Given the description of an element on the screen output the (x, y) to click on. 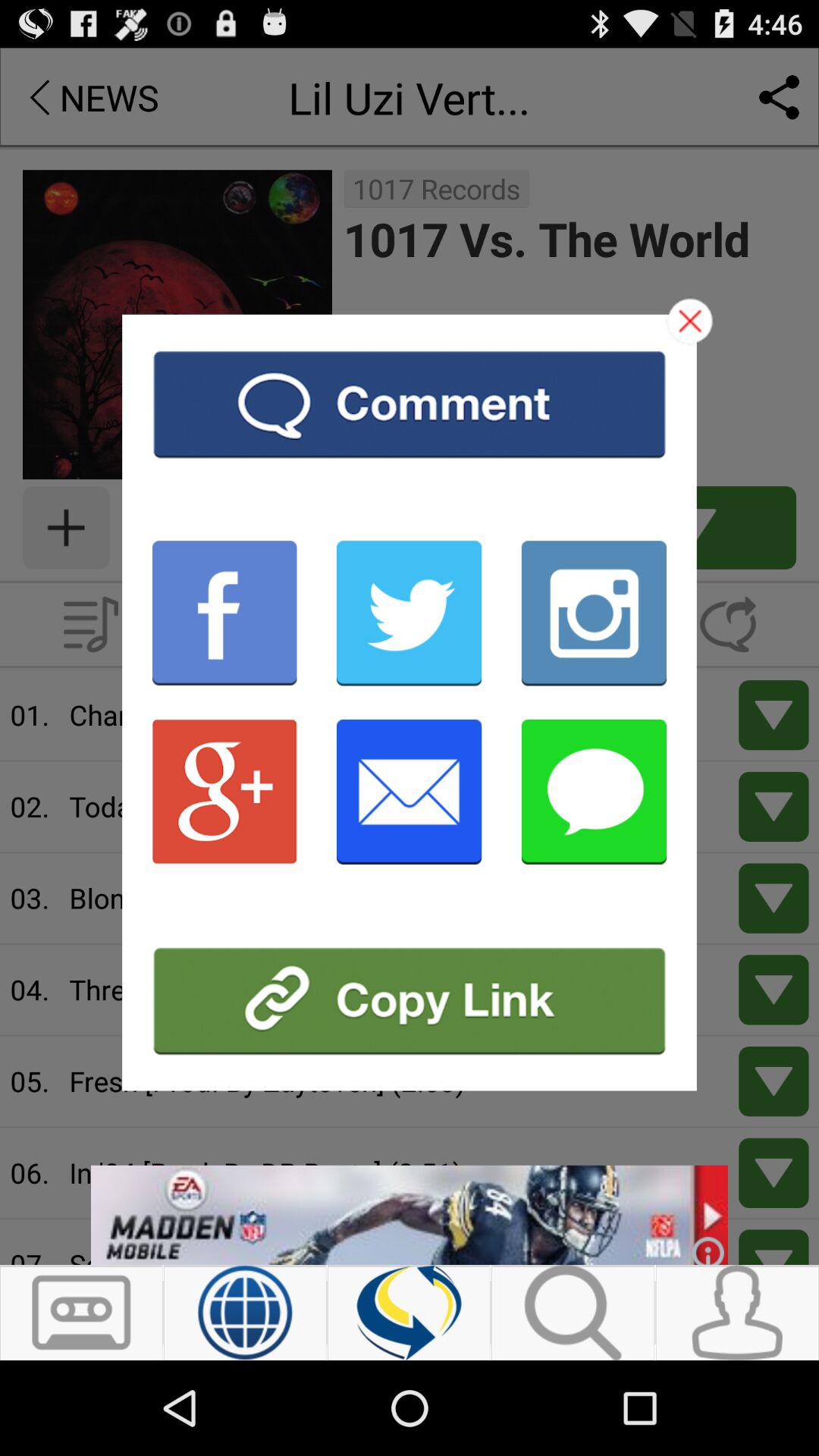
share on twitter (408, 612)
